Given the description of an element on the screen output the (x, y) to click on. 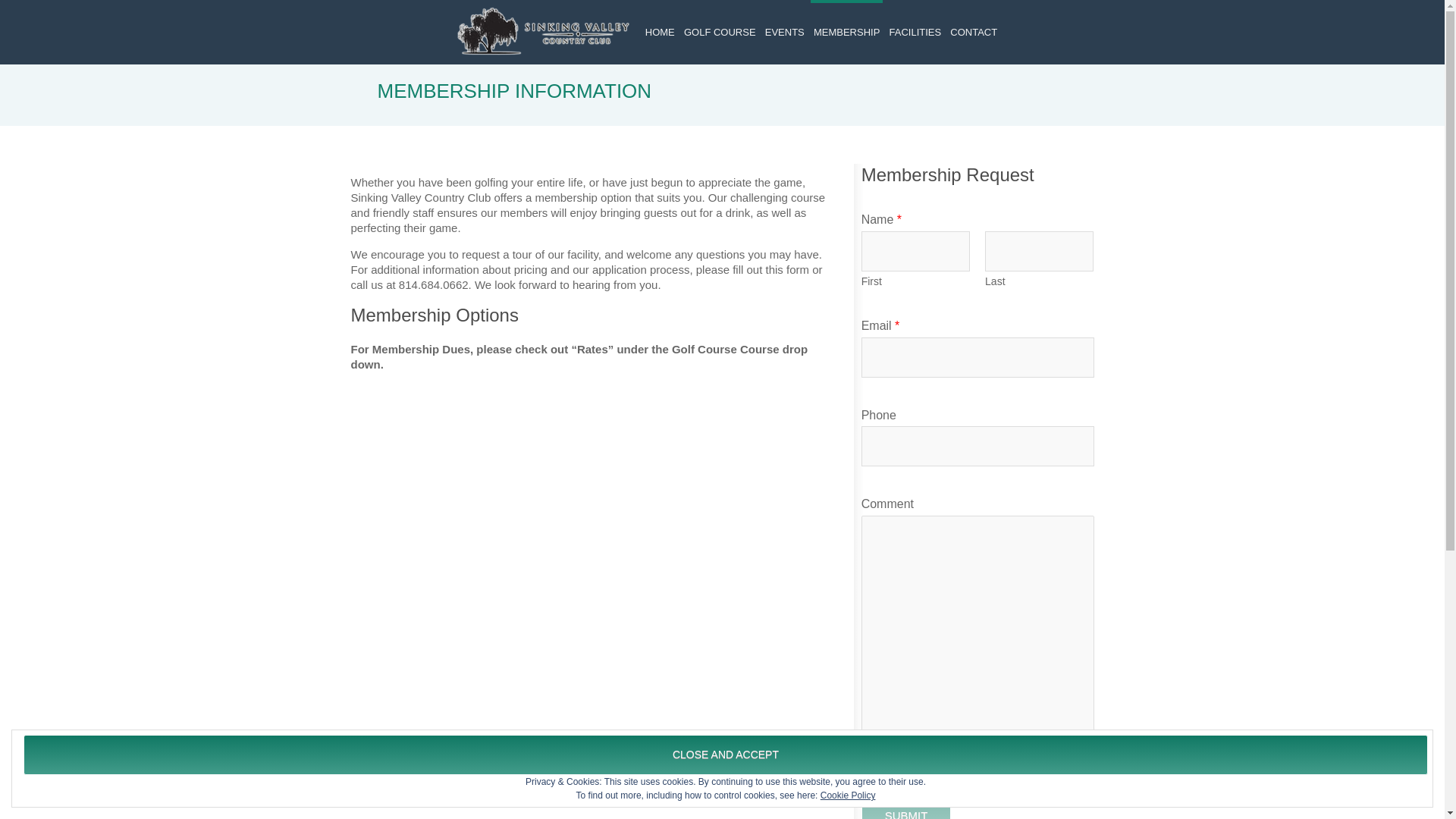
MEMBERSHIP (846, 32)
Close and accept (725, 754)
GOLF COURSE (719, 32)
SUBMIT (906, 807)
Close and accept (725, 754)
FACILITIES (915, 32)
Cookie Policy (848, 795)
